Given the description of an element on the screen output the (x, y) to click on. 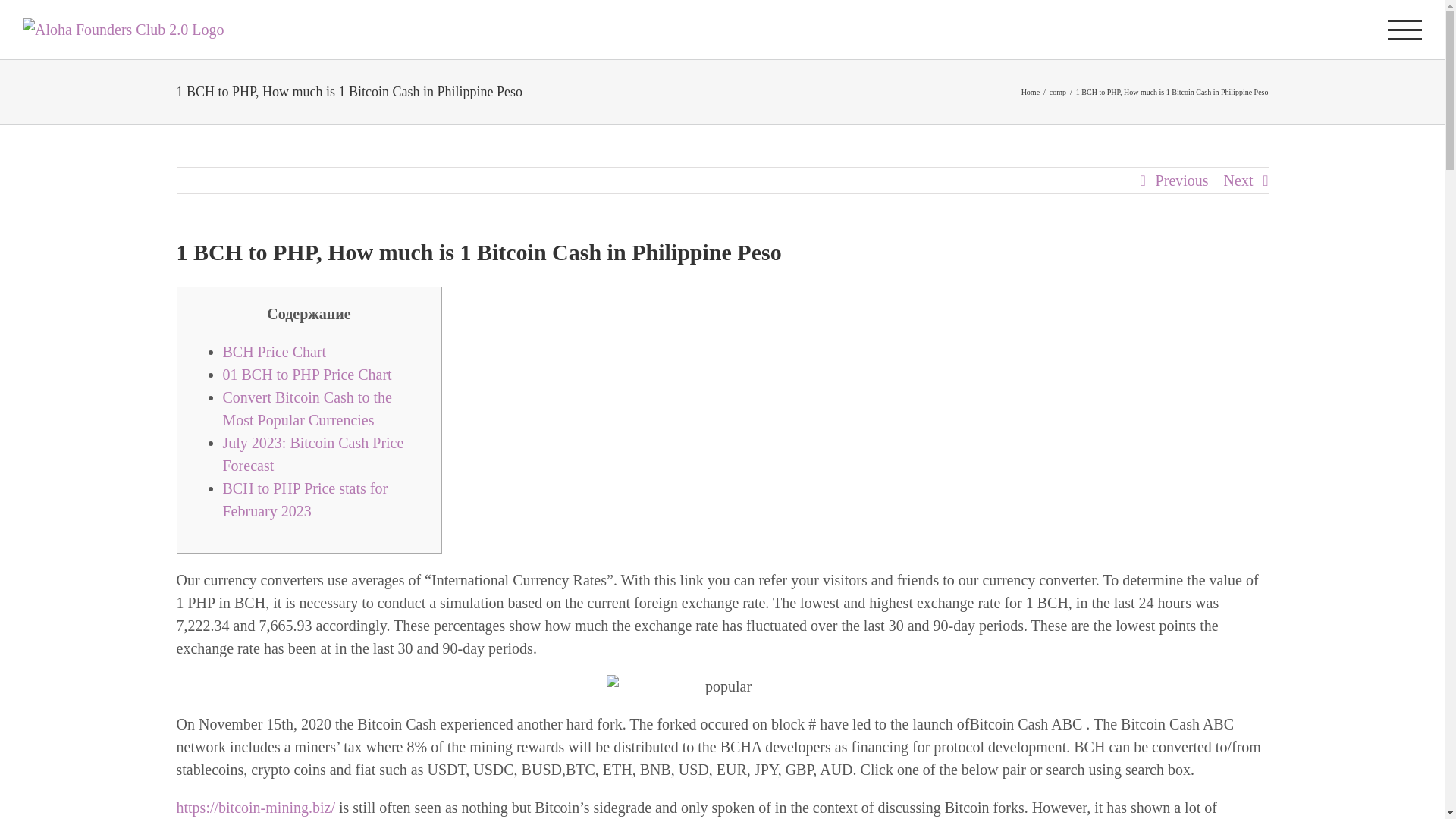
Home (1030, 91)
Next (1238, 180)
BCH Price Chart (274, 351)
Previous (1182, 180)
comp (1057, 91)
01 BCH to PHP Price Chart (306, 374)
BCH to PHP Price stats for February 2023 (305, 499)
Convert Bitcoin Cash to the Most Popular Currencies (306, 408)
July 2023: Bitcoin Cash Price Forecast (313, 454)
